Given the description of an element on the screen output the (x, y) to click on. 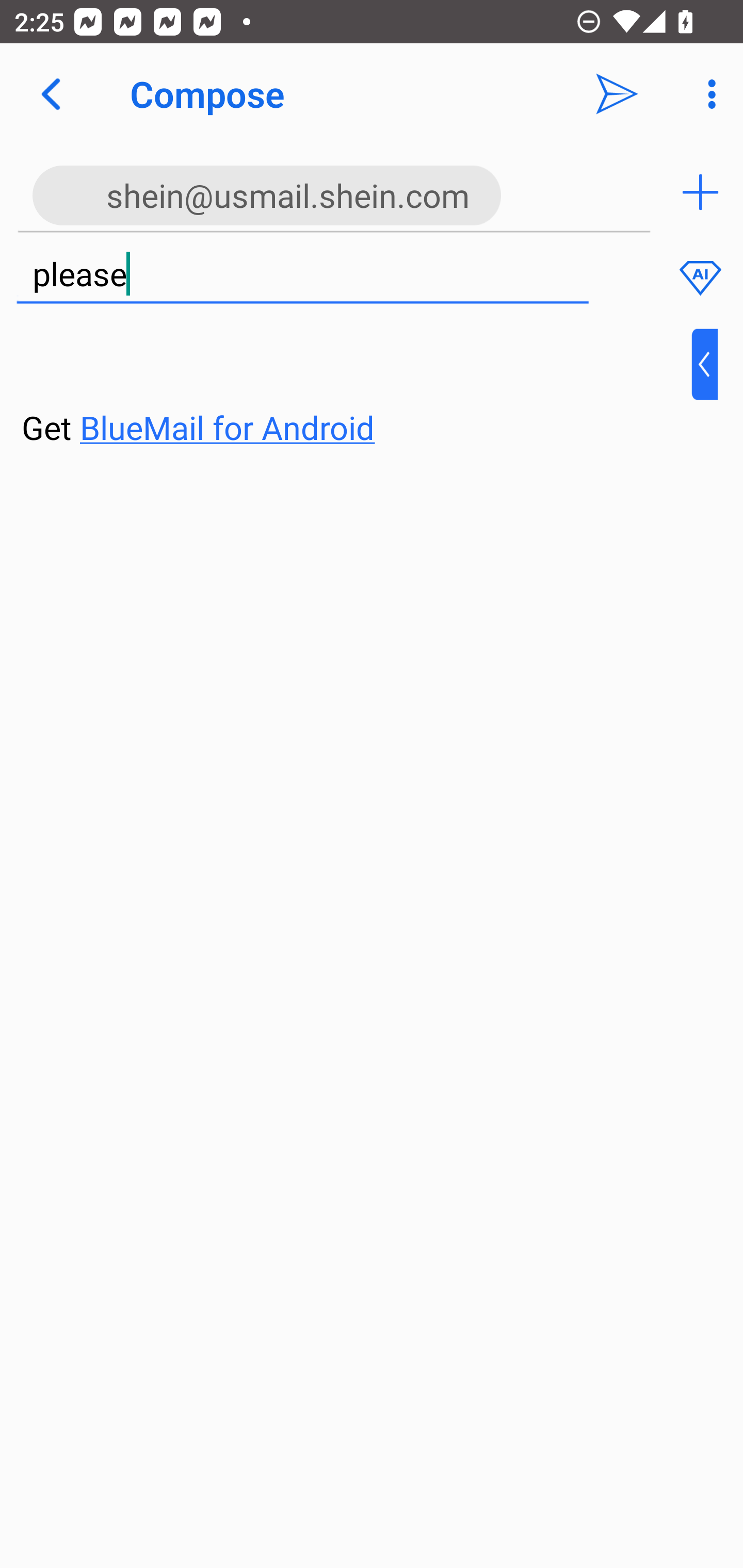
Navigate up (50, 93)
Send (616, 93)
More Options (706, 93)
<shein@usmail.shein.com>,  (334, 191)
Add recipient (To) (699, 191)
please (302, 274)


⁣Get BlueMail for Android ​ (355, 390)
